Given the description of an element on the screen output the (x, y) to click on. 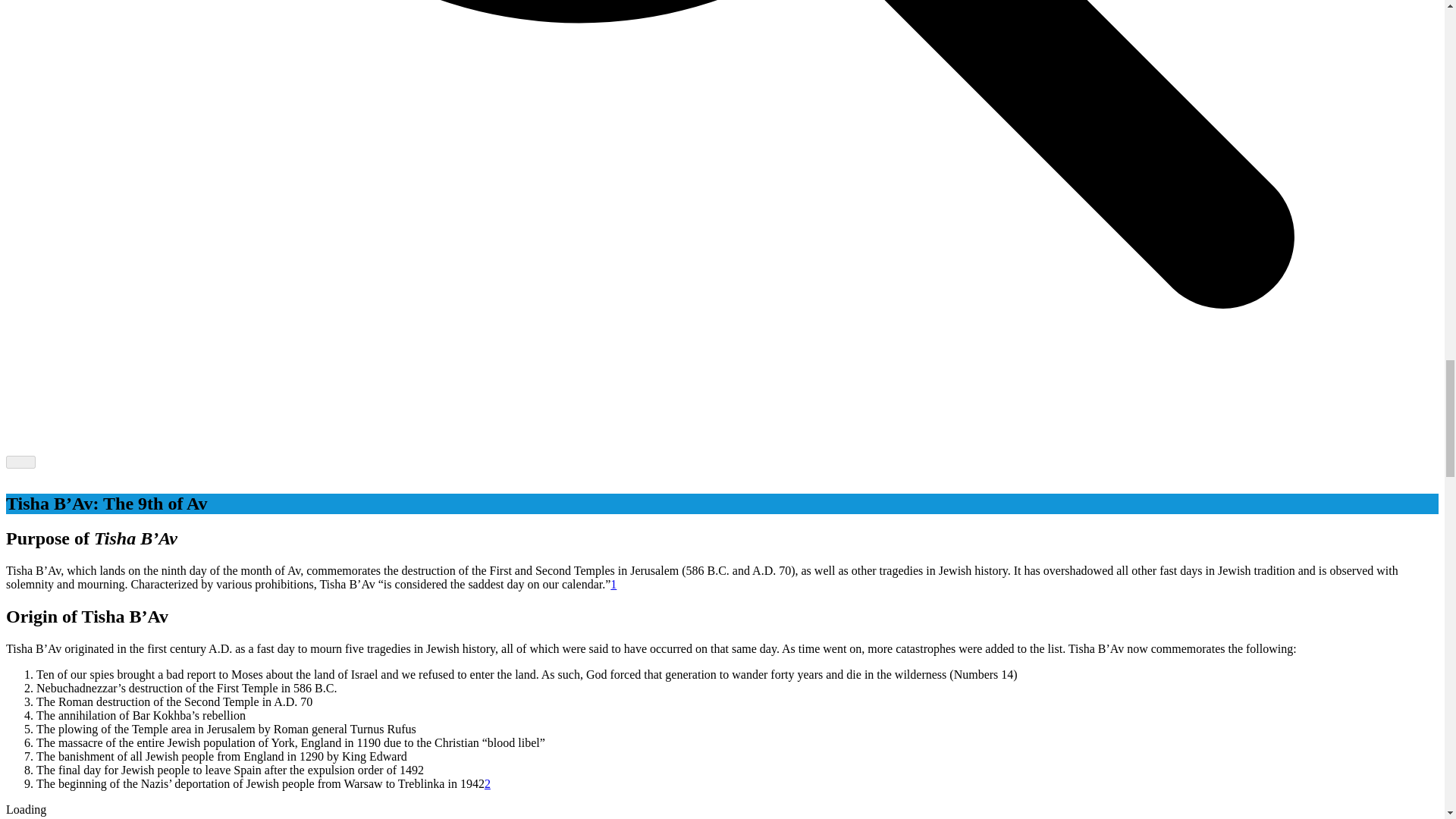
2 (487, 783)
Menu (19, 461)
1 (612, 584)
